Given the description of an element on the screen output the (x, y) to click on. 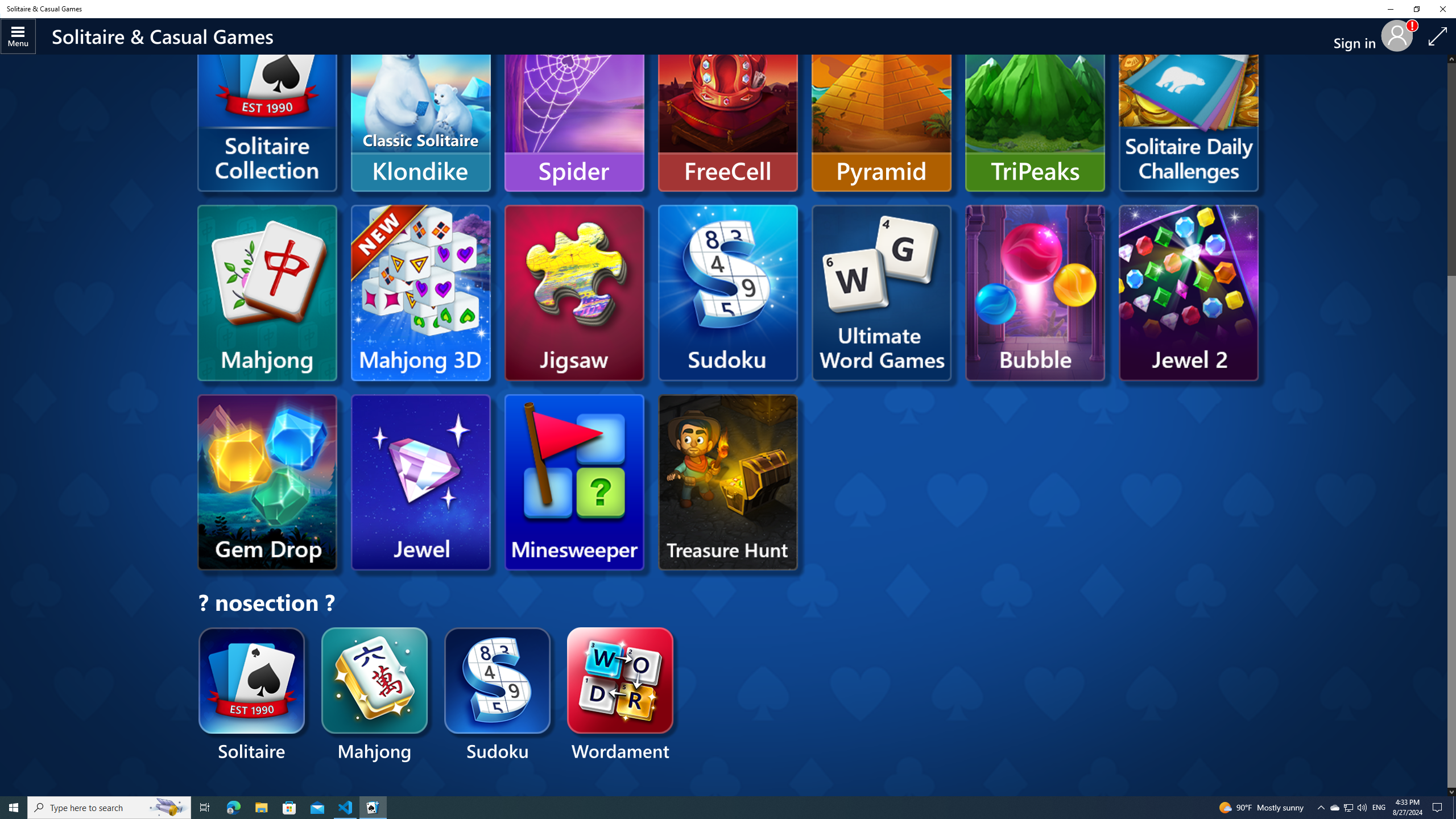
Minimize Solitaire & Casual Games (1390, 9)
Sudoku (496, 695)
Wordament (620, 695)
Microsoft Gem Drop (267, 481)
Microsoft Jewel 2 (1187, 292)
Microsoft Sudoku (727, 292)
Restore Solitaire & Casual Games (1416, 9)
Full Screen View (1437, 36)
Sign in (1358, 36)
Microsoft Jewel (420, 481)
Microsoft Bubble (1035, 292)
